Given the description of an element on the screen output the (x, y) to click on. 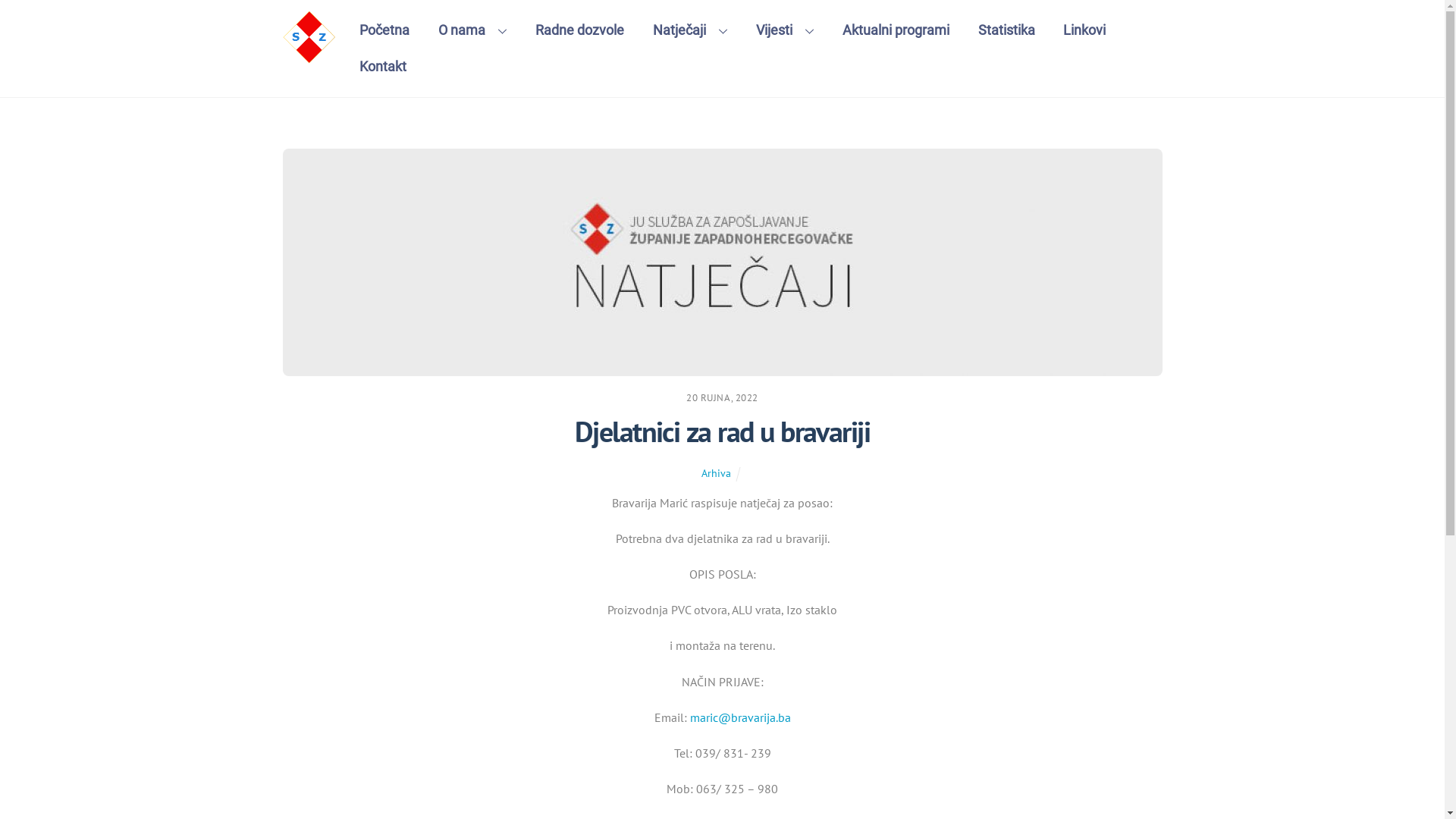
Kontakt Element type: text (383, 66)
Djelatnici za rad u bravariji Element type: text (721, 431)
Radne dozvole Element type: text (579, 30)
Arhiva Element type: text (716, 472)
Linkovi Element type: text (1084, 30)
Vijesti Element type: text (784, 30)
Aktualni programi Element type: text (895, 30)
Statistika Element type: text (1006, 30)
O nama Element type: text (472, 30)
maric@bravarija.ba Element type: text (740, 716)
logo bez slova Element type: hover (308, 36)
